Given the description of an element on the screen output the (x, y) to click on. 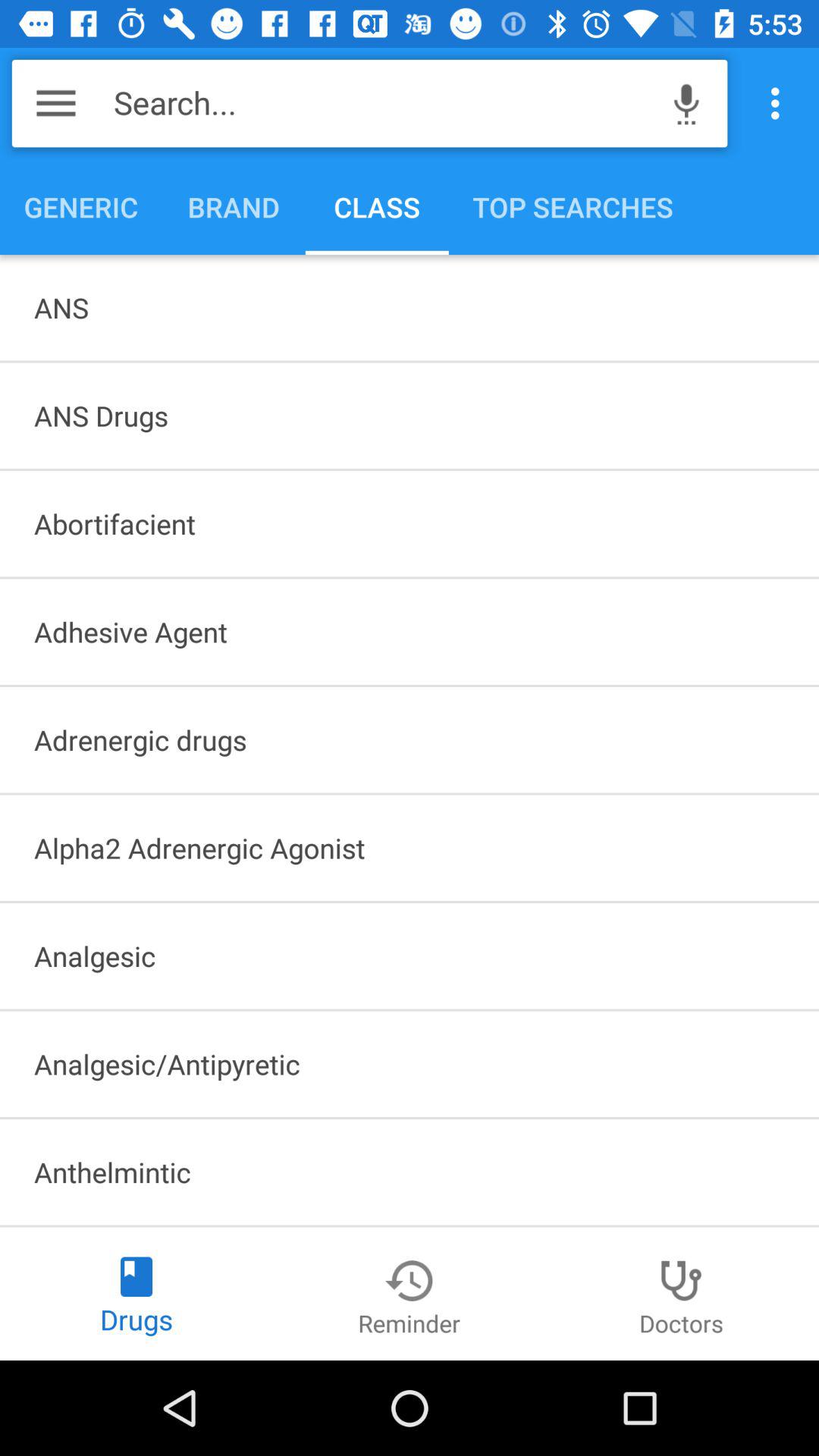
press the item next to the search... icon (686, 103)
